Given the description of an element on the screen output the (x, y) to click on. 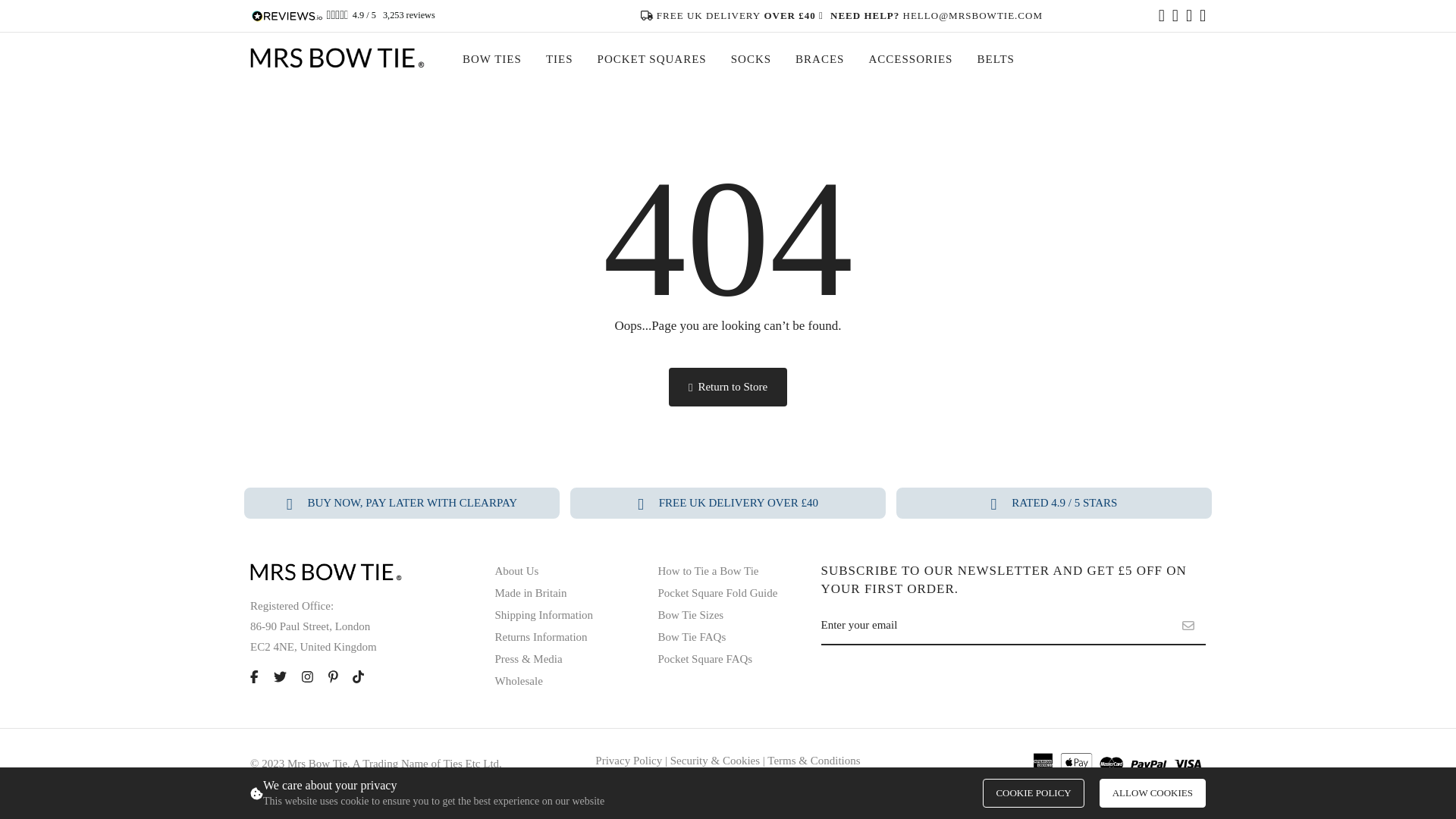
BOW TIES (492, 59)
4.9 Stars (337, 15)
